Given the description of an element on the screen output the (x, y) to click on. 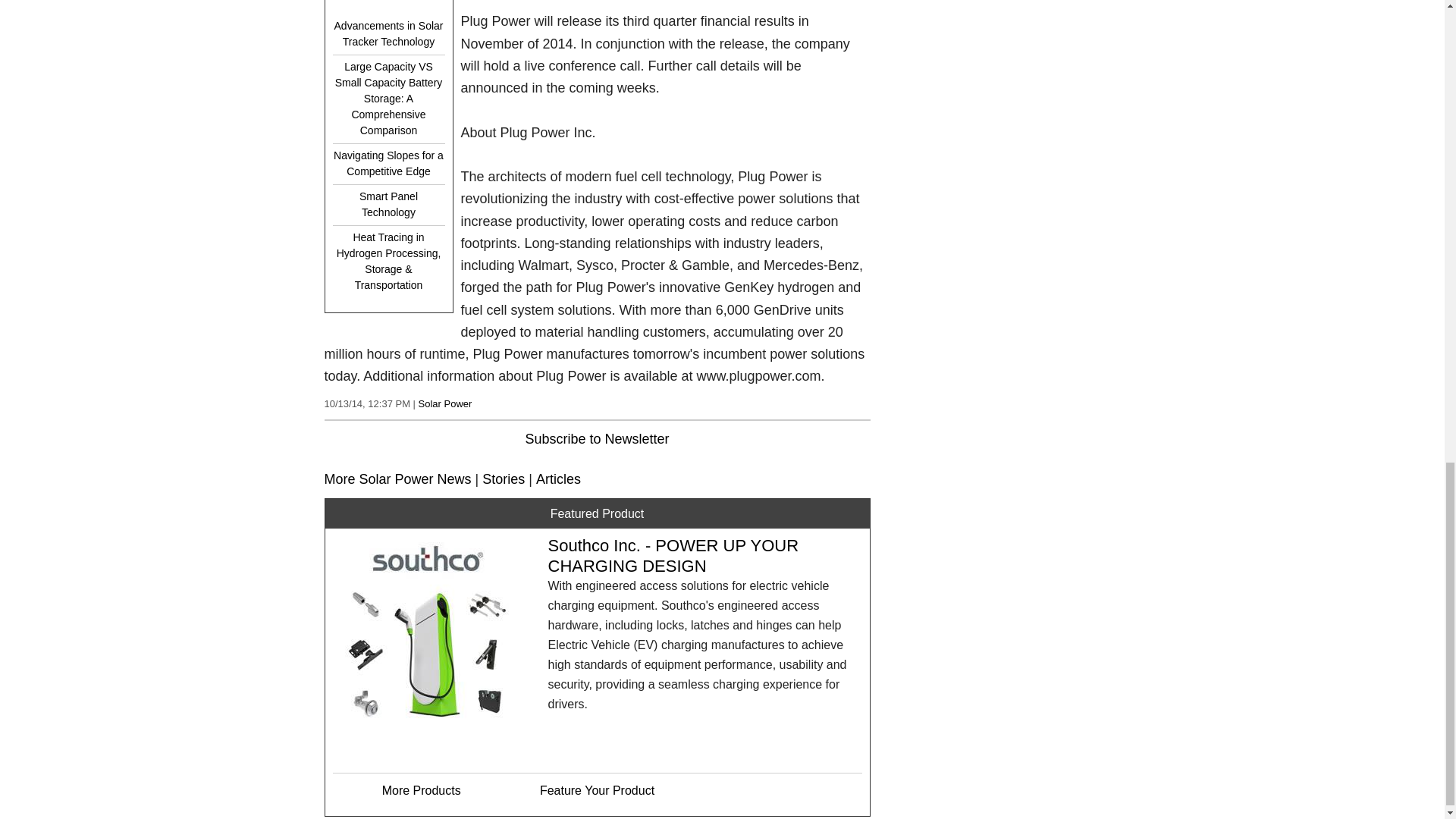
Subscribe to Newsletter (596, 438)
Solar Power (445, 403)
Navigating Slopes for a Competitive Edge (387, 163)
Articles (557, 478)
Smart Panel Technology (387, 204)
More Solar Power News (397, 478)
Stories (502, 478)
More Products (421, 789)
Southco Inc. - POWER UP YOUR CHARGING DESIGN (672, 555)
